Given the description of an element on the screen output the (x, y) to click on. 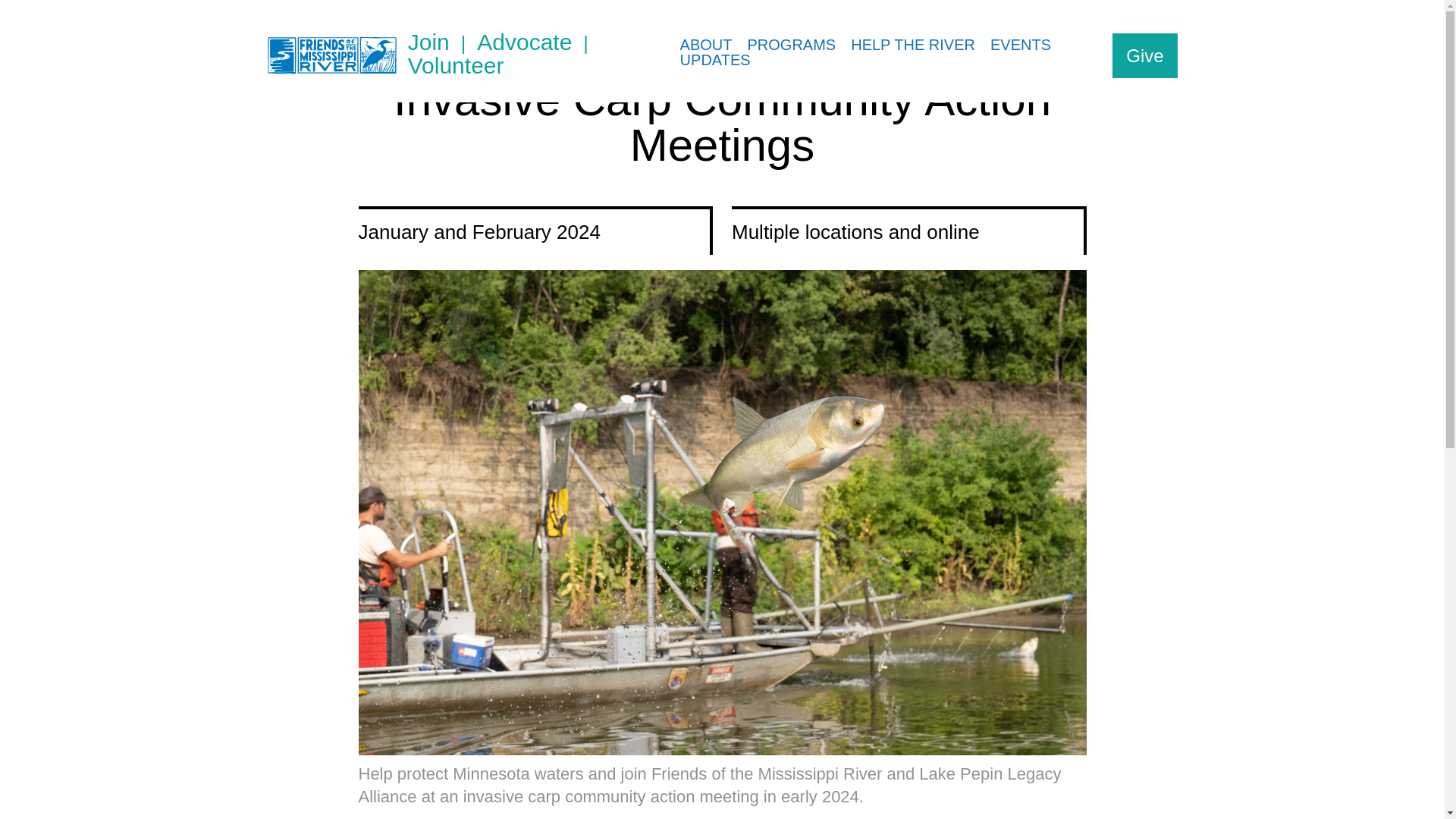
EVENTS (1020, 44)
Advocate (538, 42)
Give (1144, 55)
Volunteer (455, 65)
PROGRAMS (791, 44)
Join (442, 42)
ABOUT (705, 44)
UPDATES (715, 59)
